Given the description of an element on the screen output the (x, y) to click on. 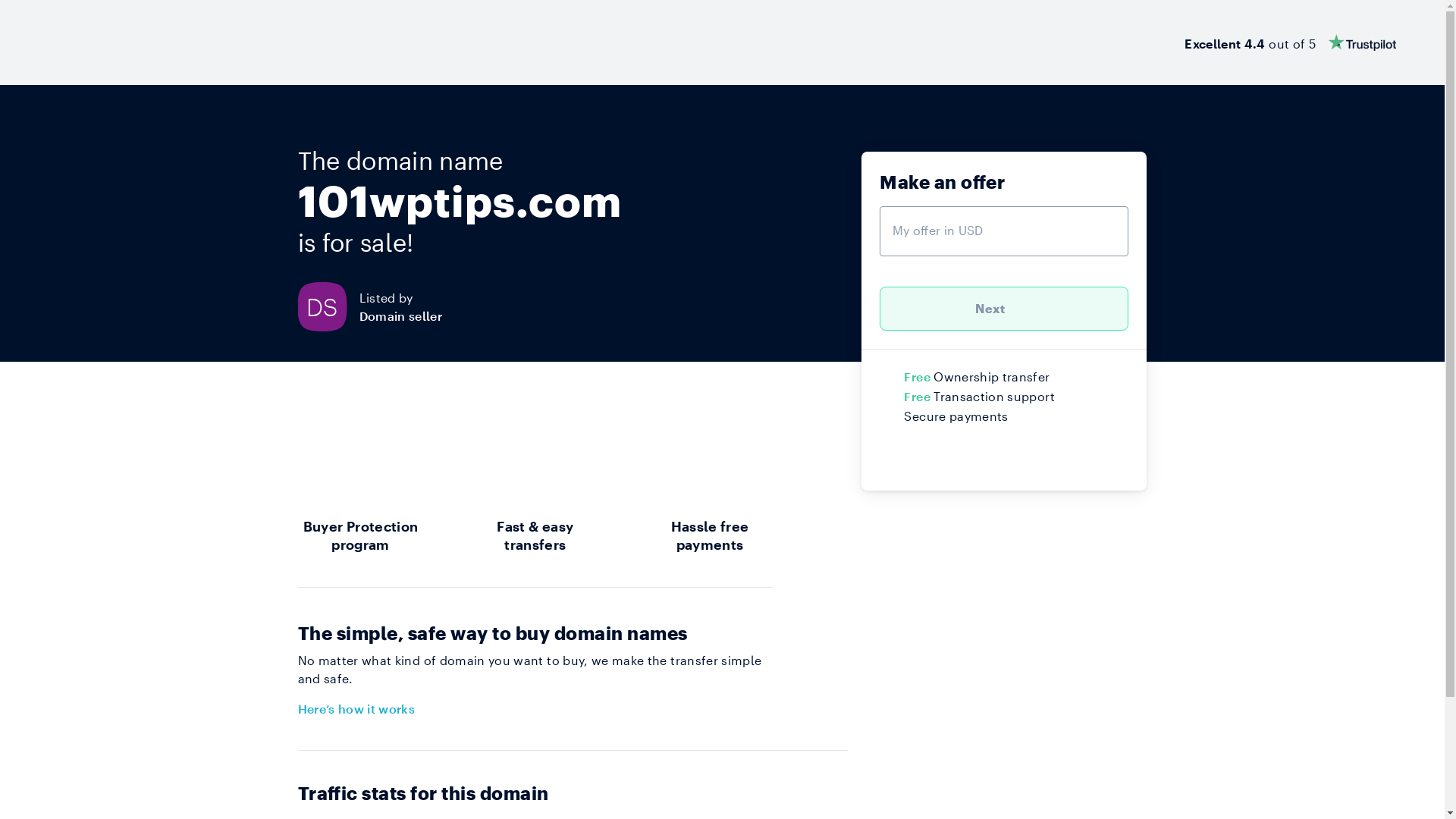
Excellent 4.4 out of 5 Element type: text (1290, 42)
DS Element type: text (327, 306)
Next
) Element type: text (1003, 308)
